Given the description of an element on the screen output the (x, y) to click on. 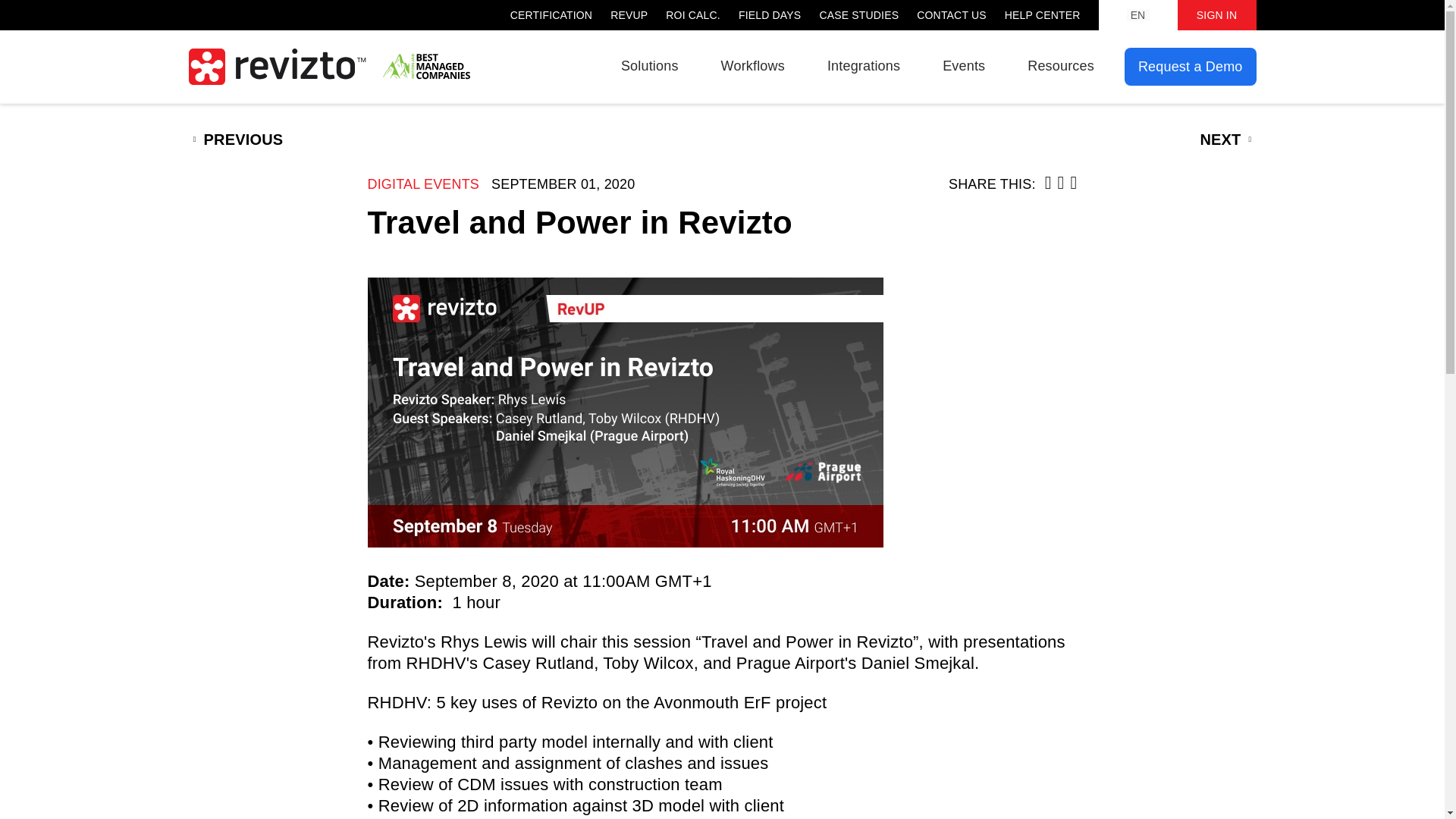
Integrations (863, 65)
CONTACT US (952, 14)
Workflows (752, 65)
Solutions (649, 65)
ROI CALC. (692, 14)
HELP CENTER (1042, 14)
CERTIFICATION (551, 14)
CASE STUDIES (858, 14)
FIELD DAYS (769, 14)
SIGN IN (1216, 14)
